Given the description of an element on the screen output the (x, y) to click on. 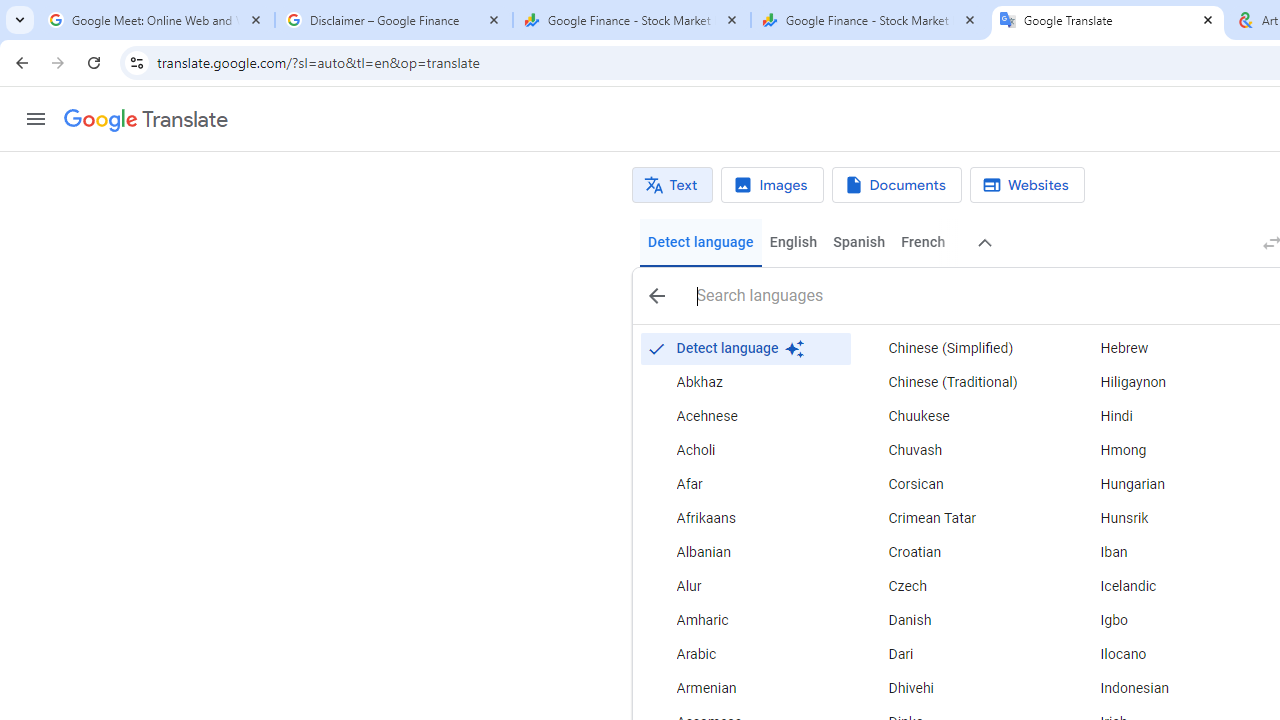
English (793, 242)
Detect language (699, 242)
Arabic (745, 655)
Indonesian (1168, 688)
Chuvash (957, 450)
Chinese (Traditional) (957, 382)
Hungarian (1168, 484)
Corsican (957, 484)
Website translation (1026, 185)
